Given the description of an element on the screen output the (x, y) to click on. 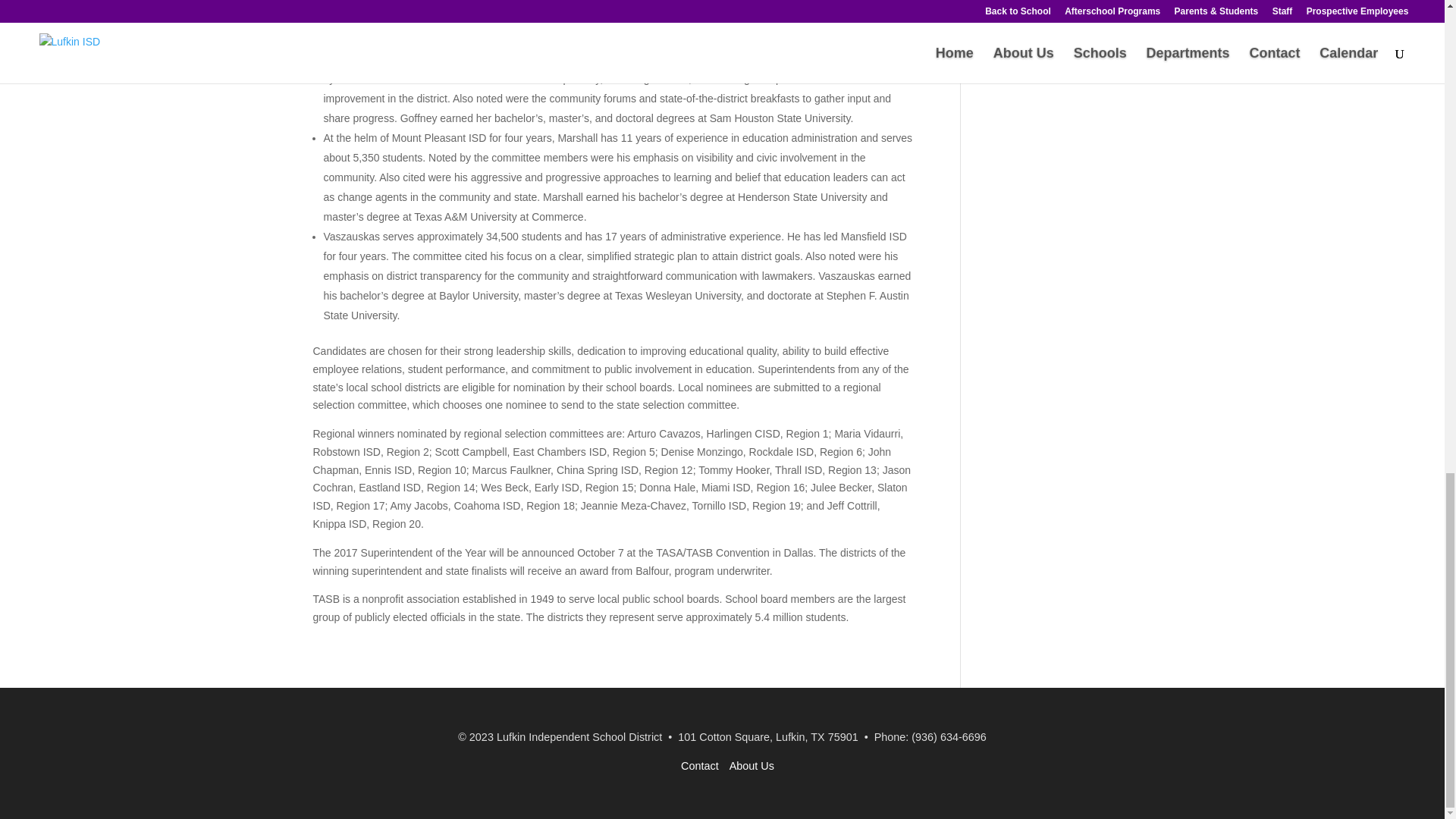
View Map (767, 736)
101 Cotton Square, Lufkin, TX 75901 (767, 736)
About Us (751, 766)
Lufkin Independent School District (579, 736)
Contact (700, 766)
